Given the description of an element on the screen output the (x, y) to click on. 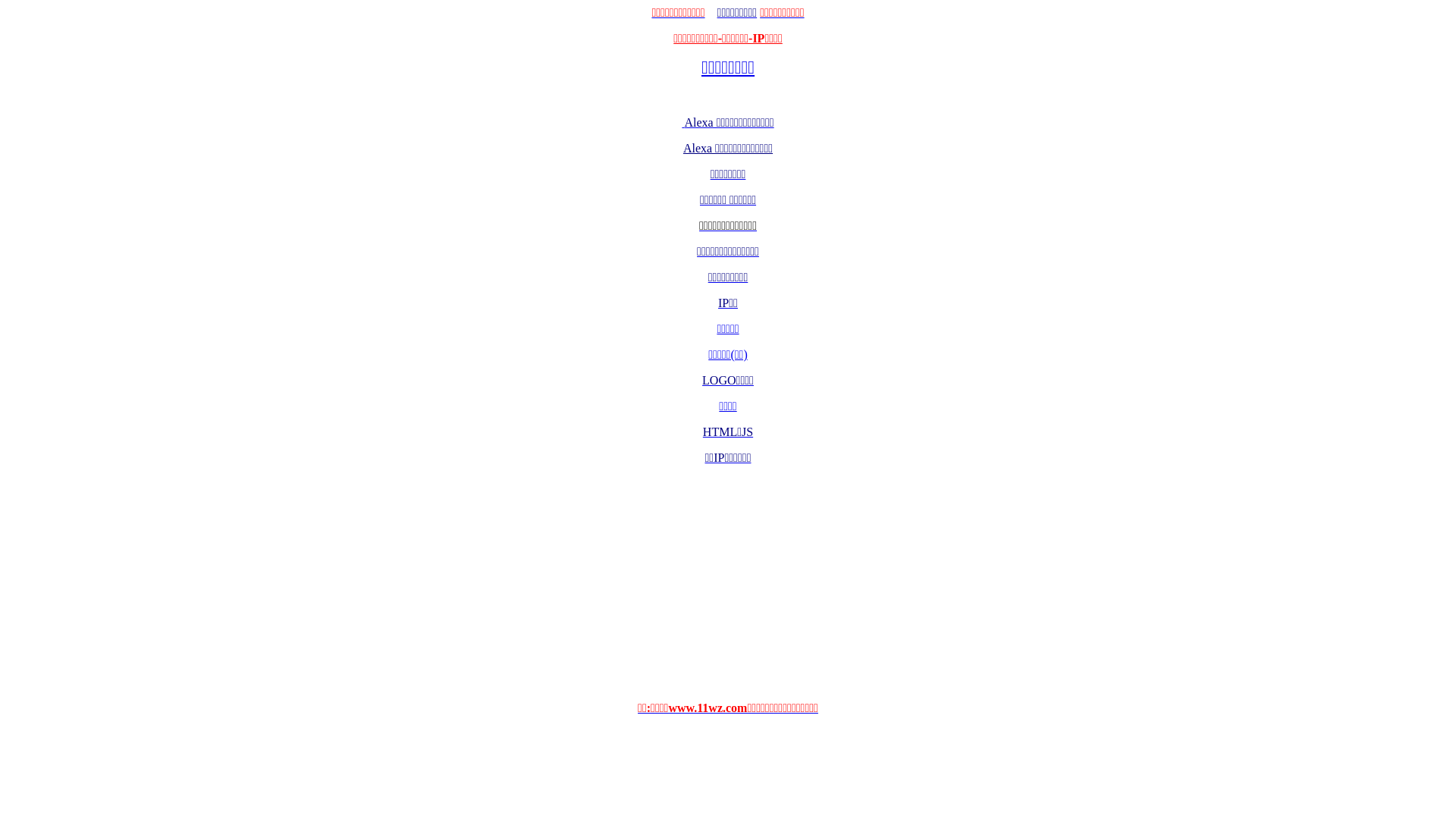
Advertisement Element type: hover (728, 582)
